Given the description of an element on the screen output the (x, y) to click on. 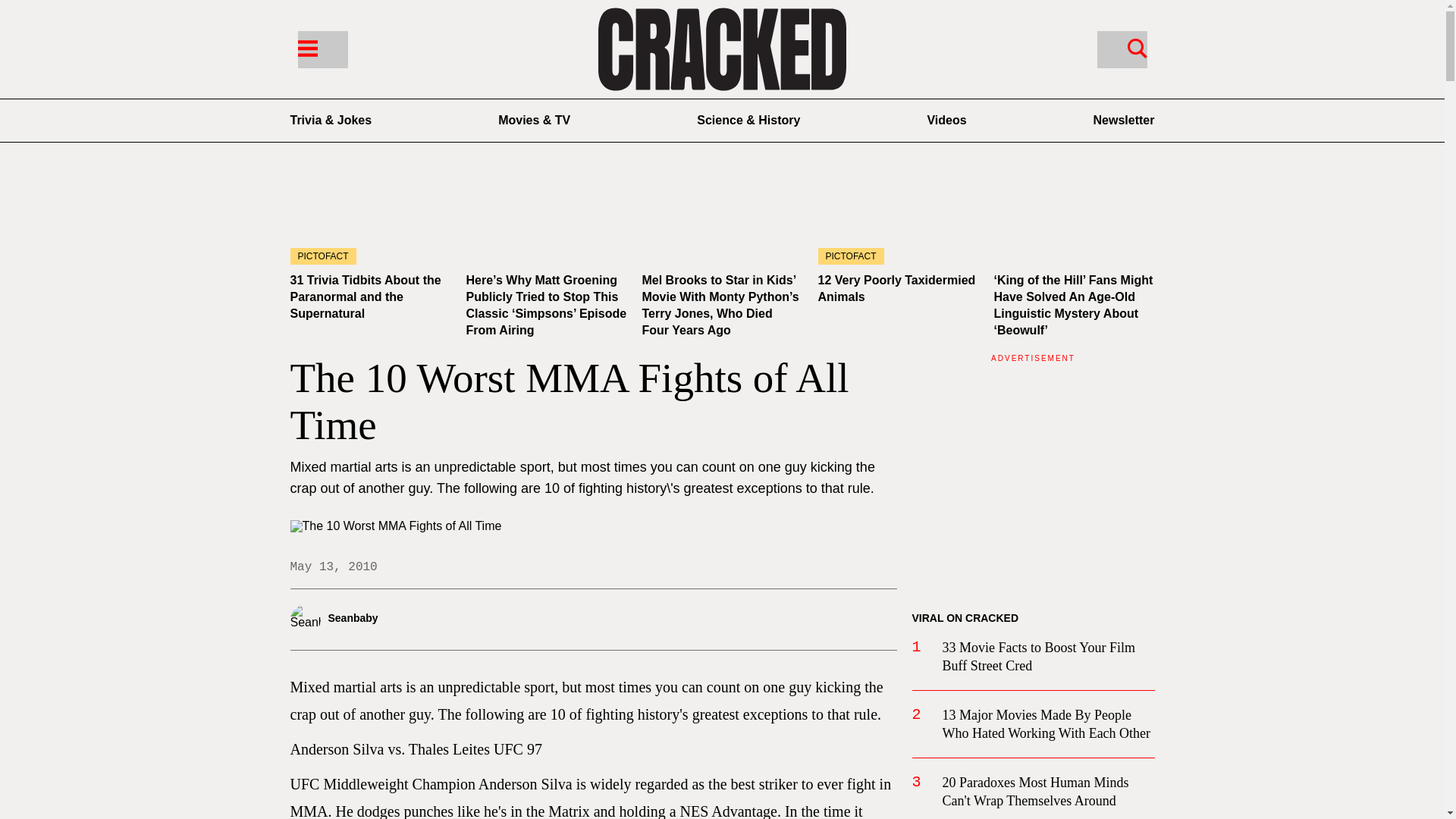
PICTOFACT (897, 219)
Newsletter (1123, 119)
31 Trivia Tidbits About the Paranormal and the Supernatural (365, 296)
PICTOFACT (369, 219)
Search (1136, 47)
Cracked Newsletter (1123, 119)
12 Very Poorly Taxidermied Animals (895, 288)
31 Trivia Tidbits About the Paranormal and the Supernatural (369, 219)
Menu (322, 48)
Menu (307, 47)
